Given the description of an element on the screen output the (x, y) to click on. 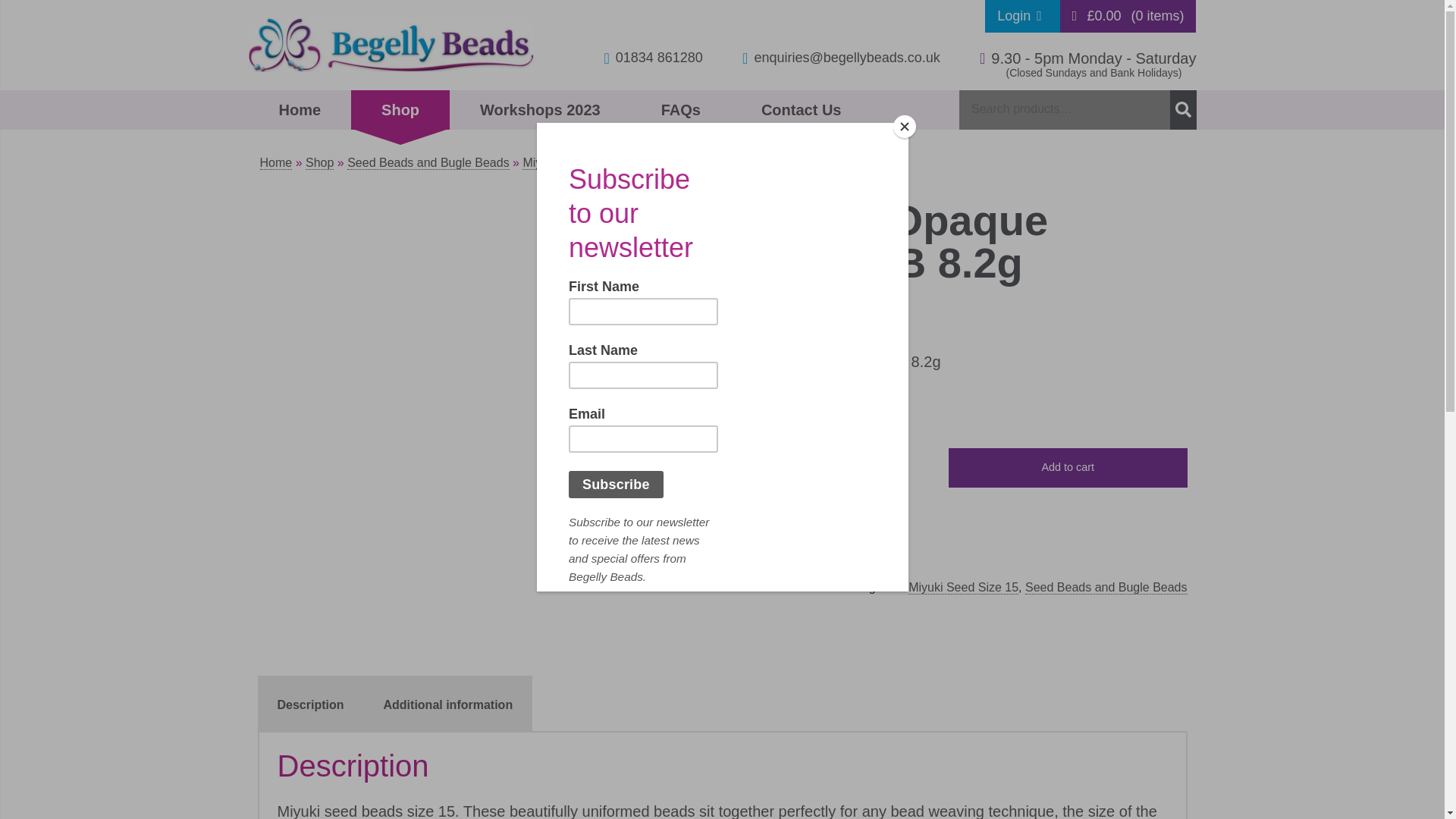
View your shopping cart (1127, 16)
1 (738, 469)
